Given the description of an element on the screen output the (x, y) to click on. 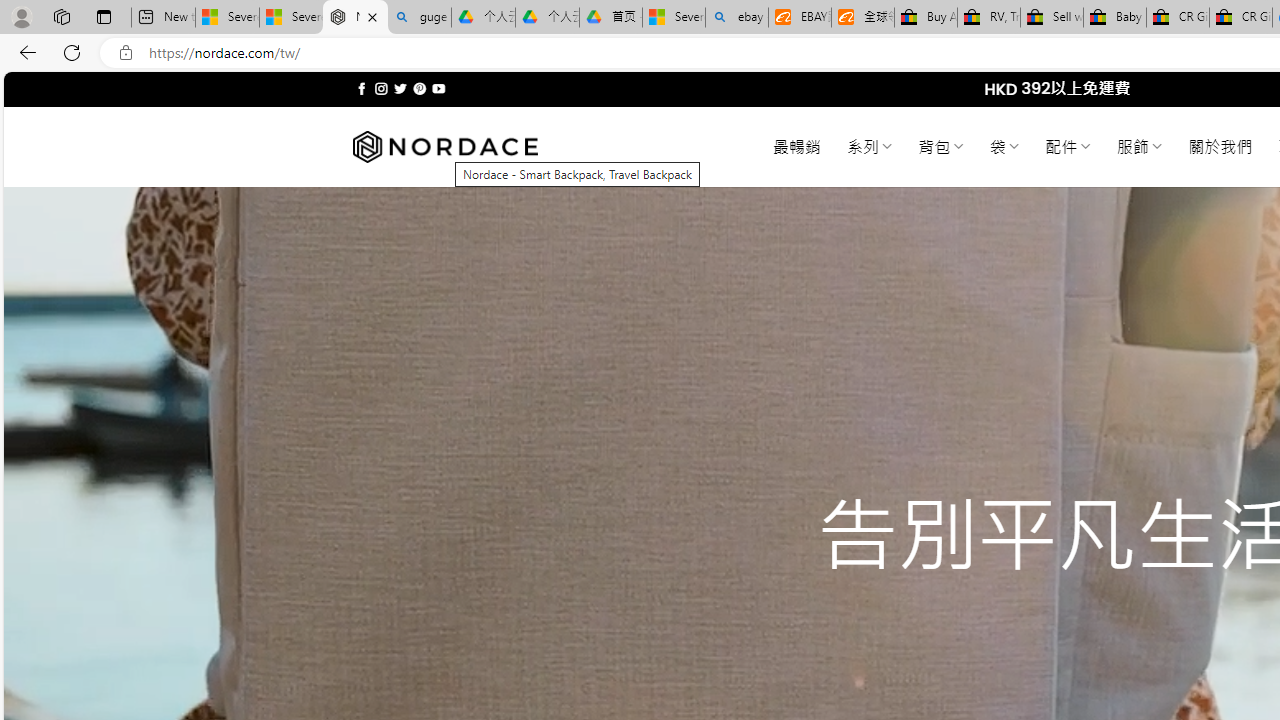
Follow on Instagram (381, 88)
Follow on Pinterest (419, 88)
guge yunpan - Search (418, 17)
